Given the description of an element on the screen output the (x, y) to click on. 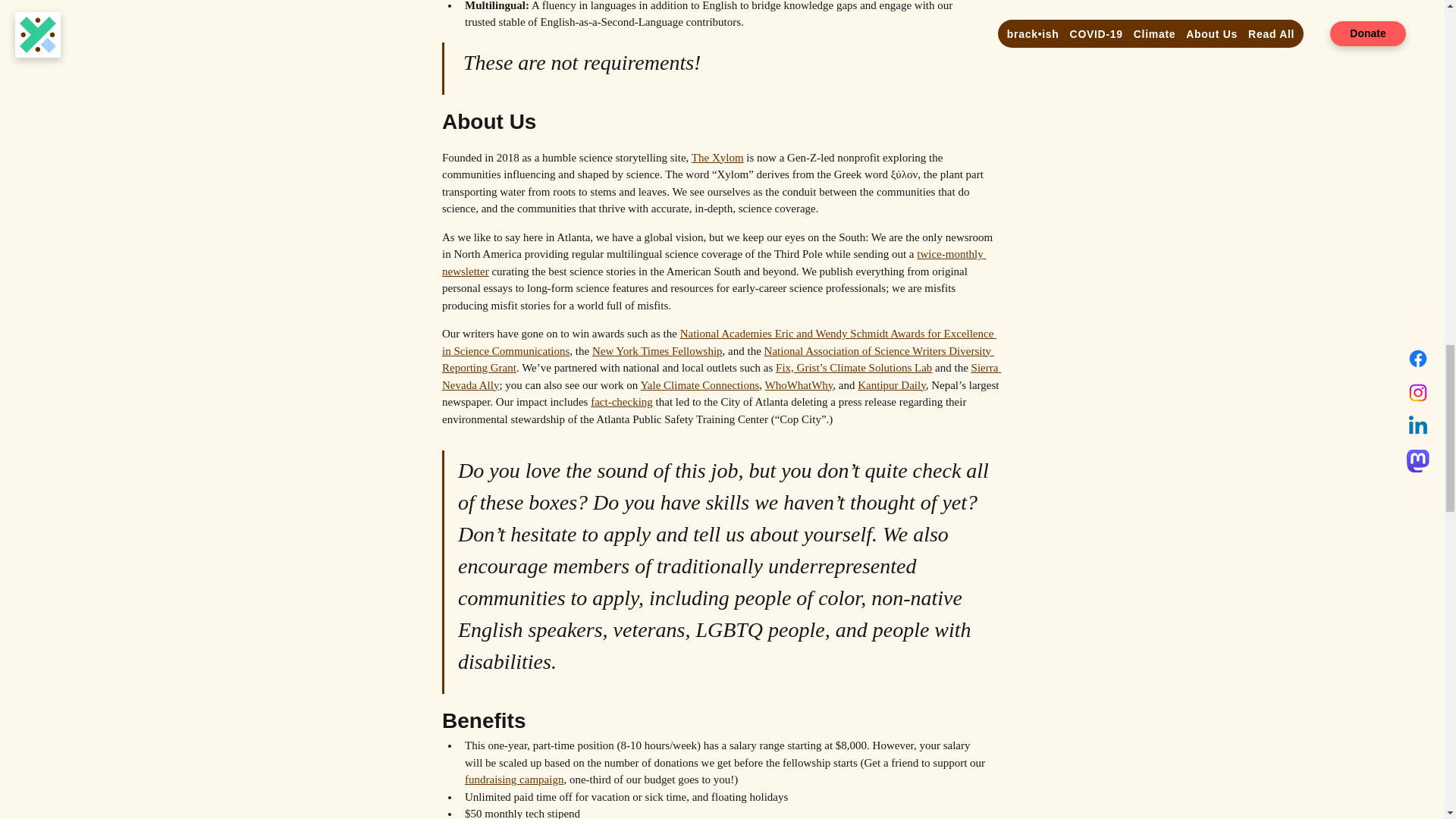
Kantipur Daily (890, 385)
fact-checking (621, 401)
Yale Climate Connections (699, 385)
twice-monthly newsletter (713, 262)
The Xylom (716, 157)
WhoWhatWhy (798, 385)
fundraising campaign (513, 779)
New York Times Fellowship (656, 349)
